Given the description of an element on the screen output the (x, y) to click on. 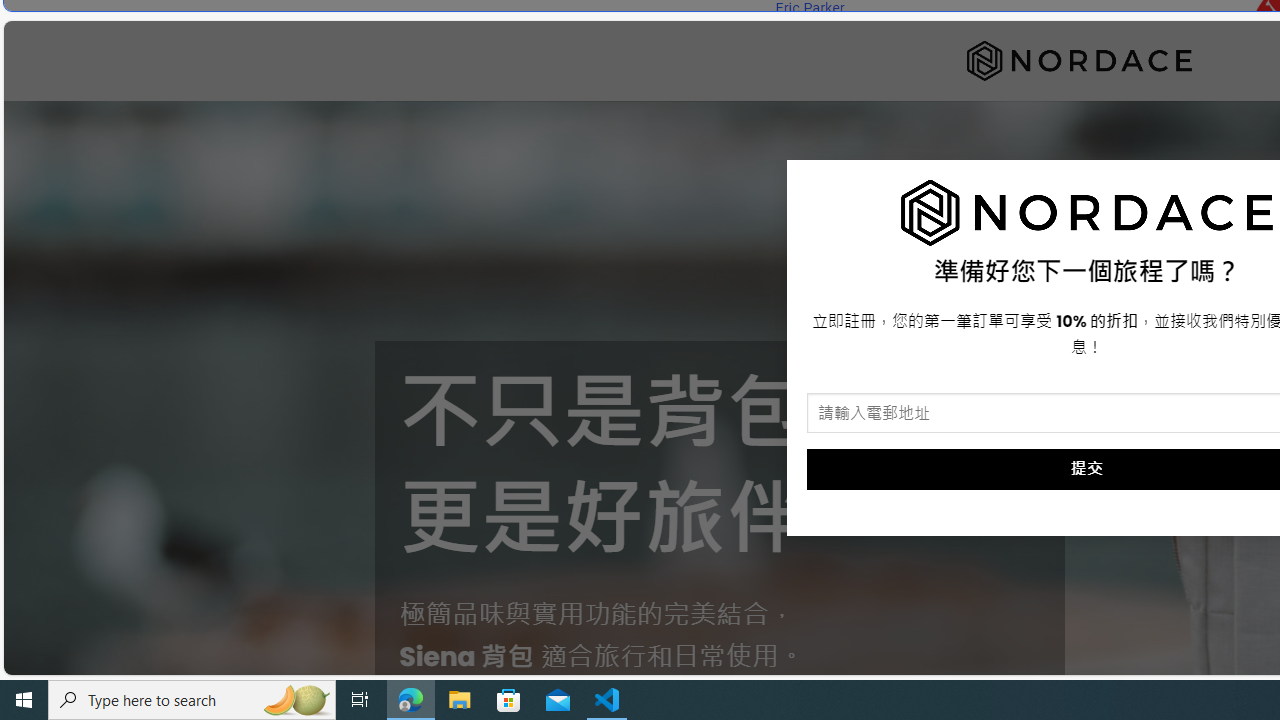
Eric Parker (809, 8)
